Given the description of an element on the screen output the (x, y) to click on. 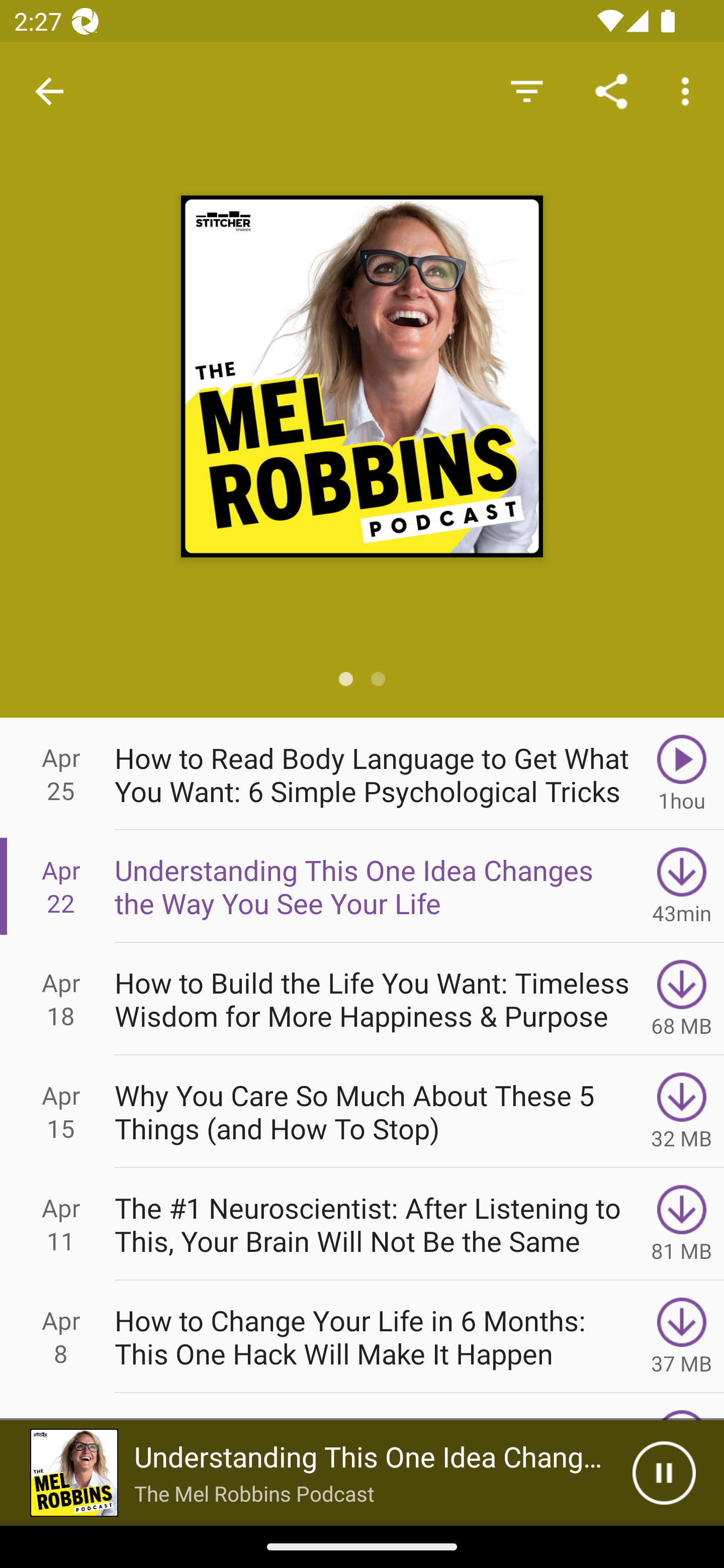
Navigate up (49, 91)
Hide Episodes (526, 90)
Share Link (611, 90)
More options (688, 90)
Play 1hou (681, 773)
Download 43min (681, 885)
Download 68 MB (681, 998)
Download 32 MB (681, 1111)
Download 81 MB (681, 1224)
Download 37 MB (681, 1336)
Pause (663, 1472)
